Given the description of an element on the screen output the (x, y) to click on. 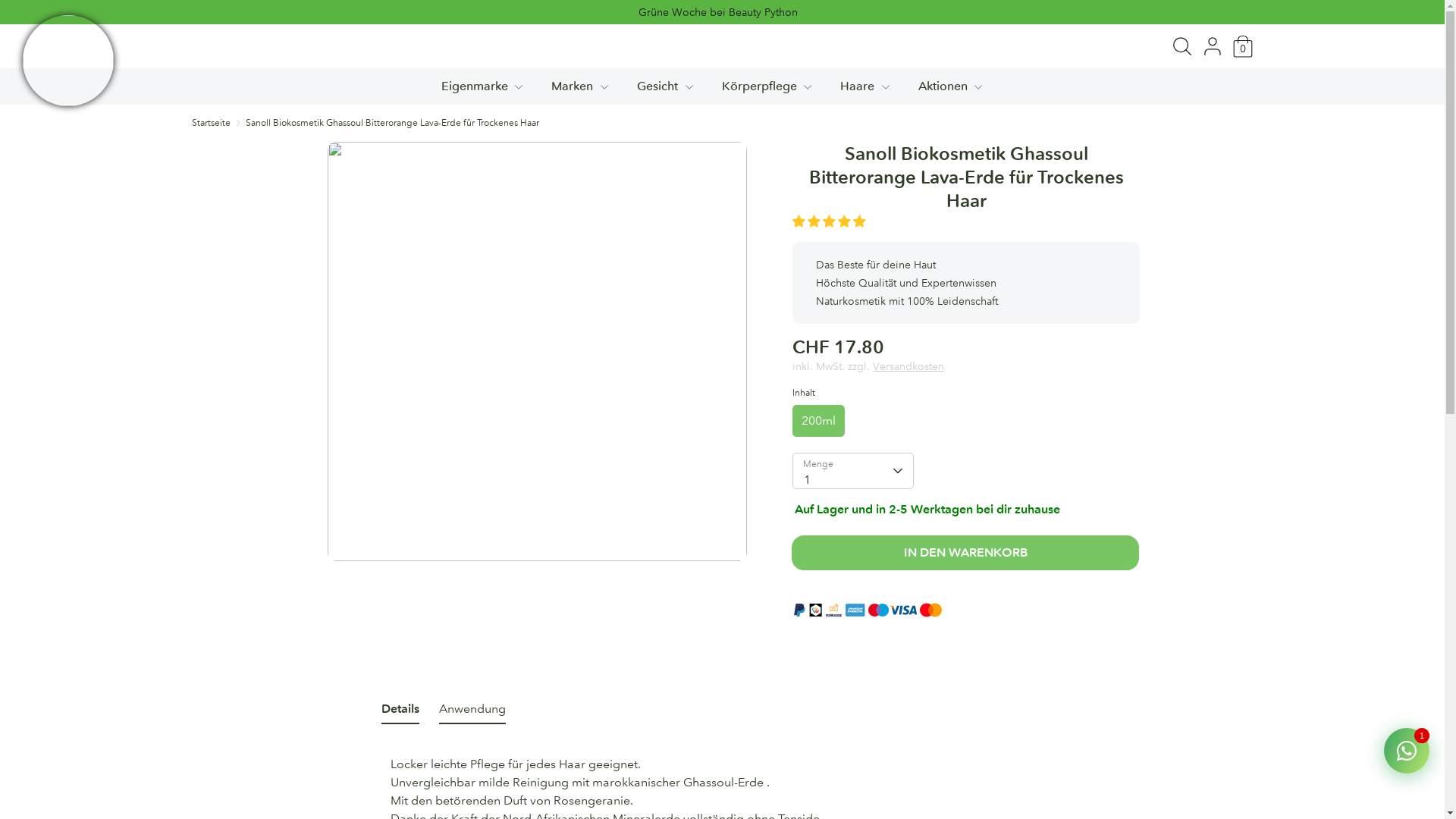
Marken Element type: text (580, 90)
200ml Element type: text (818, 420)
Gesicht Element type: text (666, 90)
Anwendung Element type: text (471, 711)
0 Element type: text (1241, 44)
Haare Element type: text (865, 90)
Aktionen Element type: text (951, 90)
Suchen Element type: text (1181, 44)
IN DEN WARENKORB Element type: text (965, 552)
Versandkosten Element type: text (908, 366)
Startseite Element type: text (210, 122)
Details Element type: text (399, 711)
Eigenmarke Element type: text (483, 90)
